Given the description of an element on the screen output the (x, y) to click on. 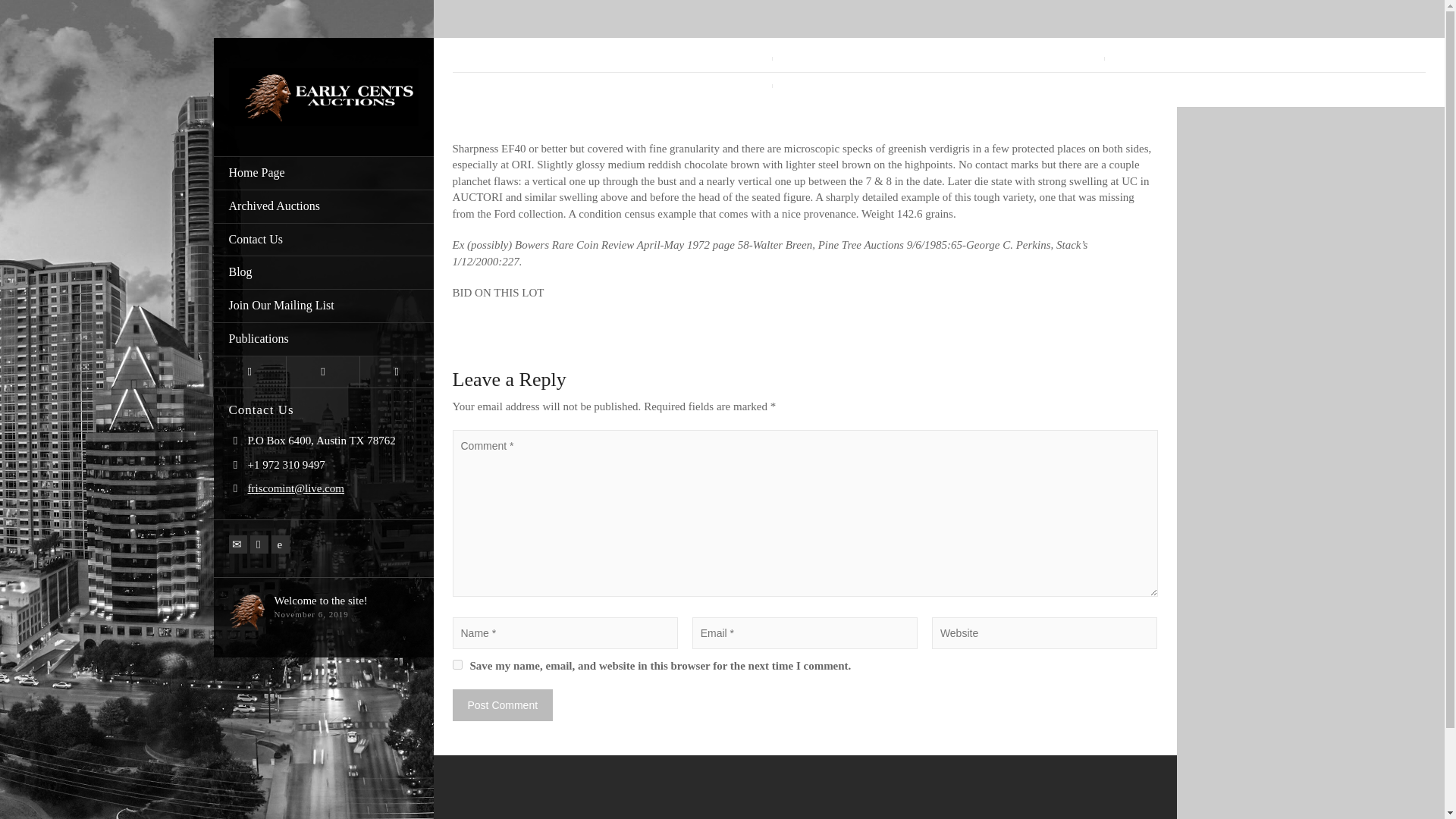
Post Comment (502, 705)
Cart (322, 371)
eBay (279, 544)
Home Page (323, 173)
Join Our Mailing List (323, 305)
Contact Us (323, 240)
Login (250, 371)
yes (456, 664)
Early Cents Auctions (323, 95)
Email (237, 544)
Archived Auctions (323, 206)
Facebook (258, 544)
Blog (323, 272)
Welcome to the site! (321, 600)
Post Comment (502, 705)
